Given the description of an element on the screen output the (x, y) to click on. 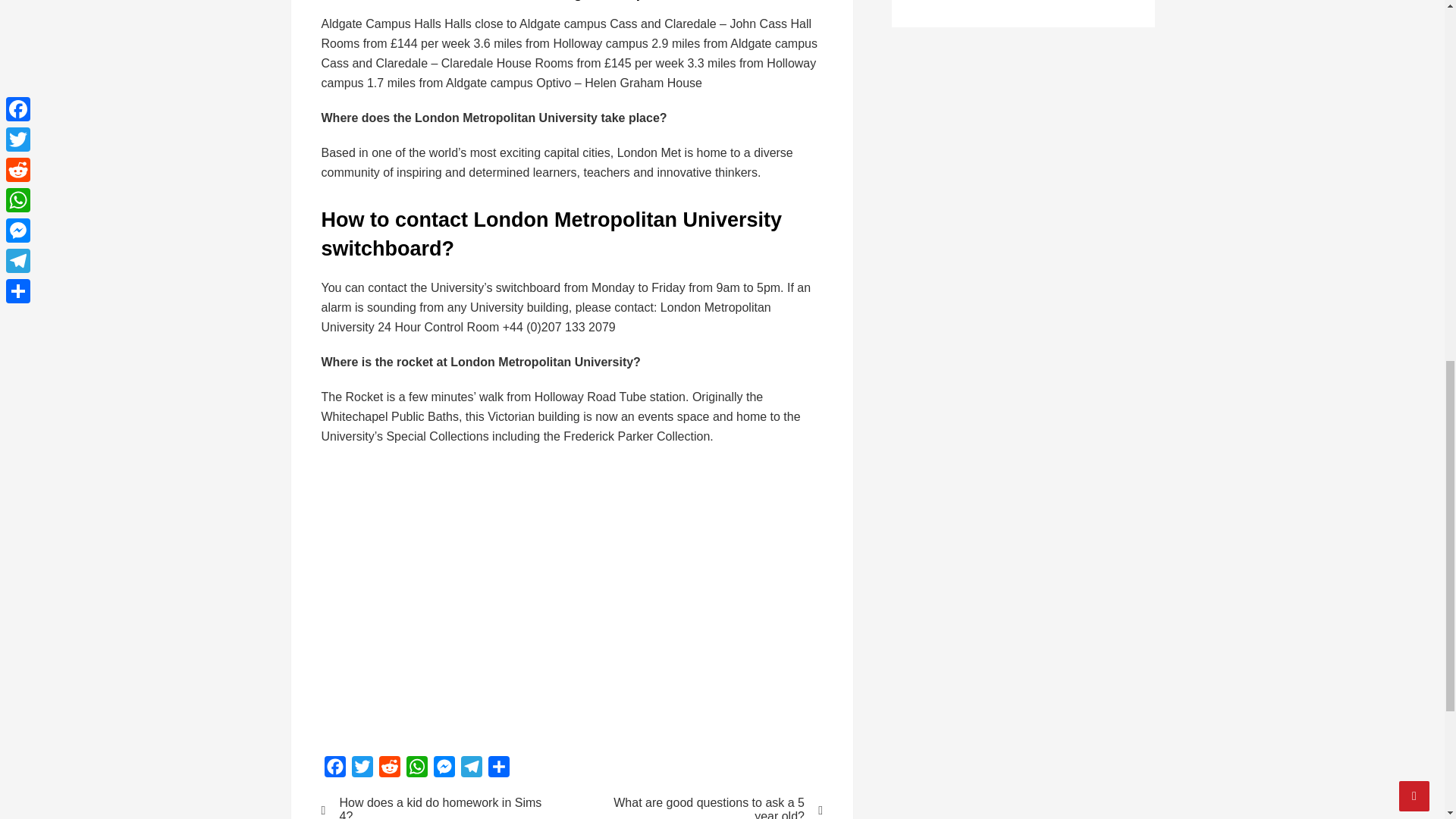
Messenger (444, 769)
What are good questions to ask a 5 year old? (707, 807)
Reddit (389, 769)
Facebook (335, 769)
Reddit (389, 769)
Holloway campus tour (563, 597)
Twitter (362, 769)
Telegram (471, 769)
Messenger (444, 769)
How does a kid do homework in Sims 4? (436, 807)
WhatsApp (416, 769)
Twitter (362, 769)
Share (498, 769)
WhatsApp (416, 769)
Telegram (471, 769)
